Given the description of an element on the screen output the (x, y) to click on. 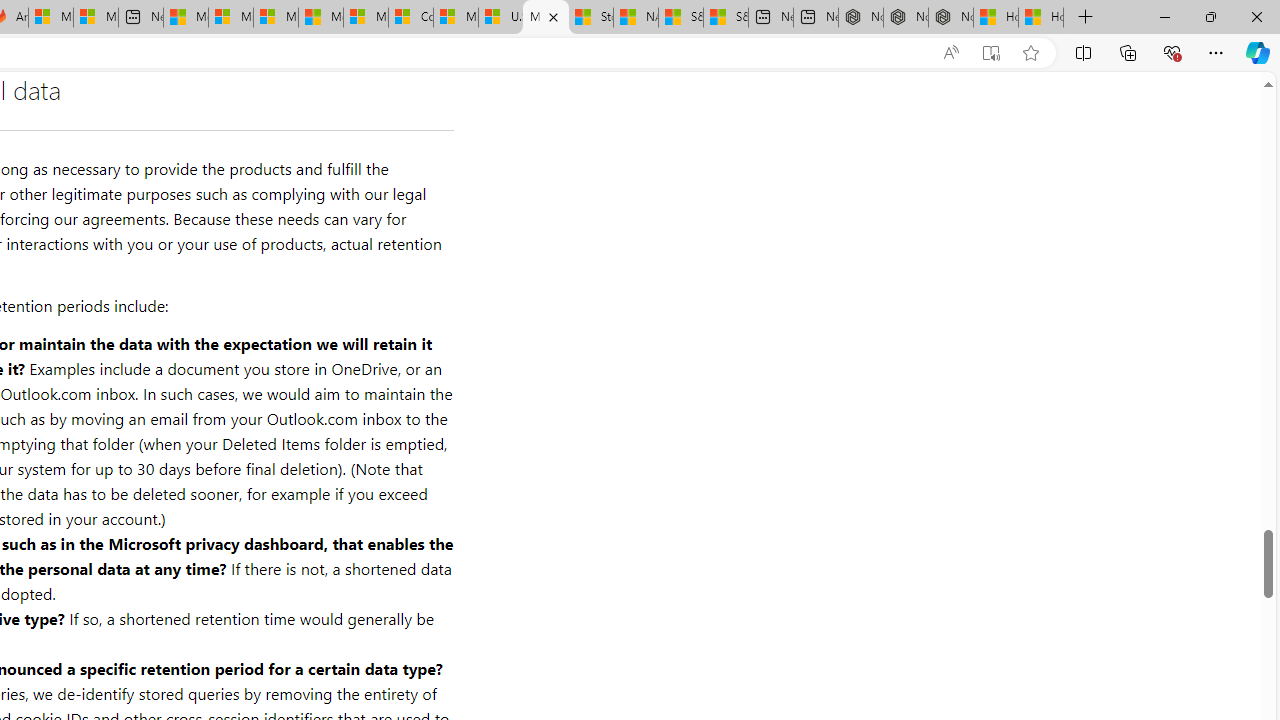
Consumer Health Data Privacy Policy (410, 17)
